Given the description of an element on the screen output the (x, y) to click on. 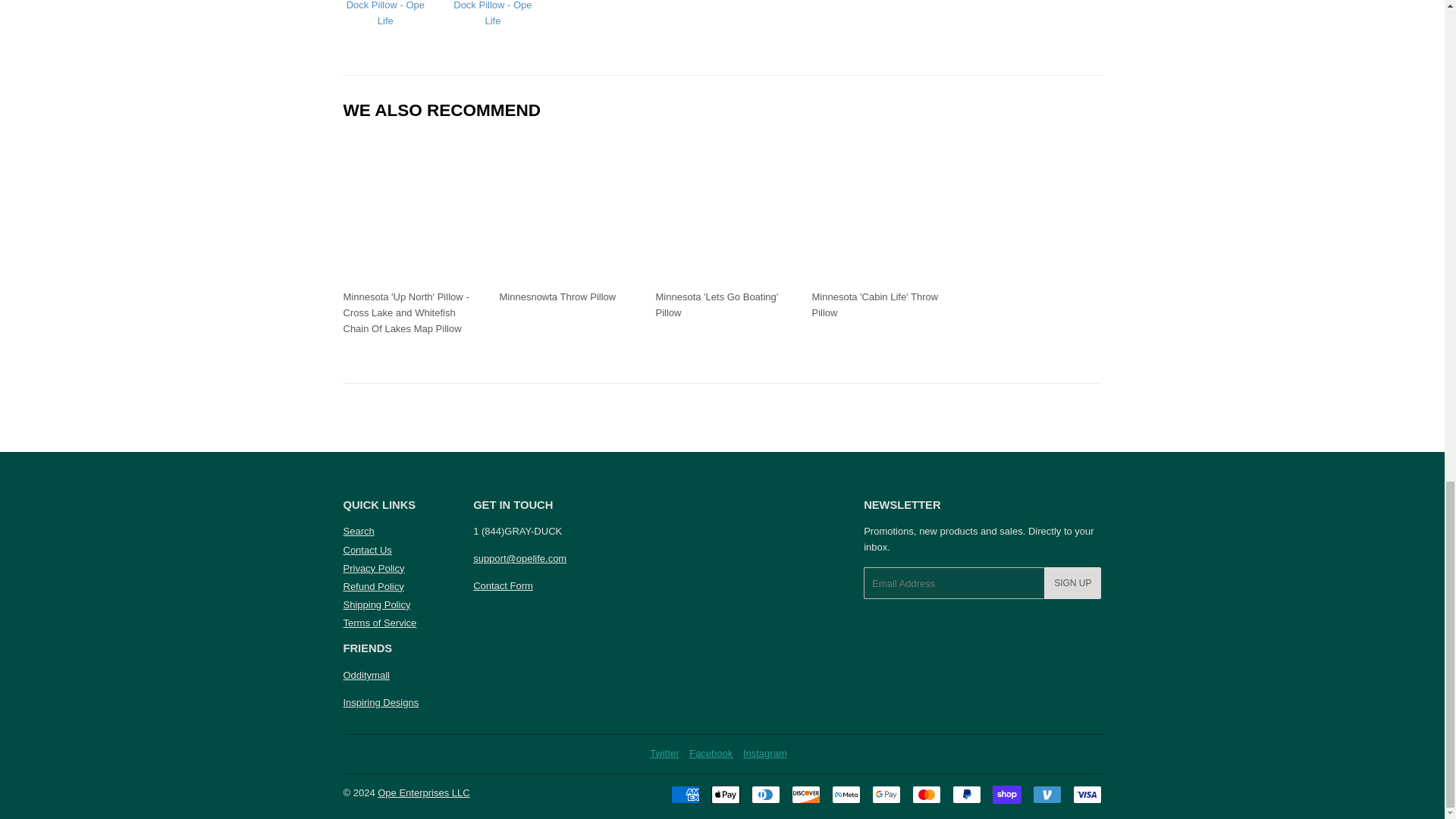
Ope Life on Facebook (710, 753)
Apple Pay (725, 794)
Shop Pay (1005, 794)
PayPal (966, 794)
Mastercard (925, 794)
Meta Pay (845, 794)
Visa (1085, 794)
American Express (683, 794)
Venmo (1046, 794)
Google Pay (886, 794)
Ope Life on Instagram (764, 753)
Diners Club (764, 794)
Ope Life on Twitter (663, 753)
Contact Form (502, 585)
Discover (806, 794)
